Given the description of an element on the screen output the (x, y) to click on. 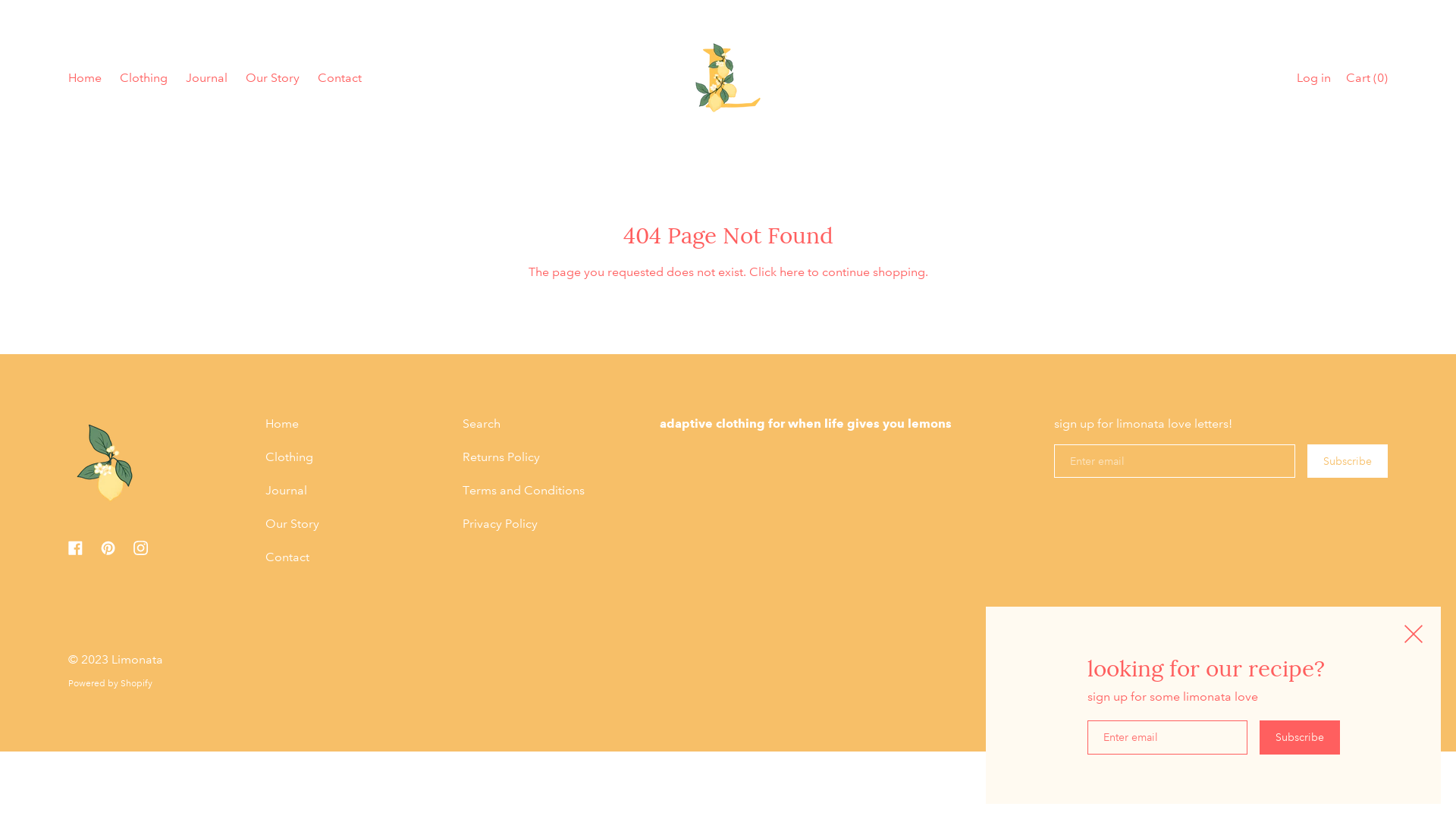
Journal Element type: text (206, 79)
Log in Element type: text (1313, 79)
Clothing Element type: text (143, 79)
Powered by Shopify Element type: text (110, 683)
Contact Element type: text (286, 557)
Home Element type: text (281, 423)
Subscribe Element type: text (1298, 737)
Journal Element type: text (285, 490)
here Element type: text (791, 271)
Cart (0) Element type: text (1366, 79)
Contact Element type: text (339, 79)
Returns Policy Element type: text (501, 456)
Search Element type: text (481, 423)
Clothing Element type: text (288, 456)
Our Story Element type: text (291, 523)
Facebook Element type: text (75, 547)
Subscribe Element type: text (1347, 460)
Pinterest Element type: text (107, 547)
Our Story Element type: text (272, 79)
Home Element type: text (84, 79)
Instagram Element type: text (140, 547)
Terms and Conditions Element type: text (523, 490)
Privacy Policy Element type: text (500, 523)
Limonata Element type: text (137, 659)
